Given the description of an element on the screen output the (x, y) to click on. 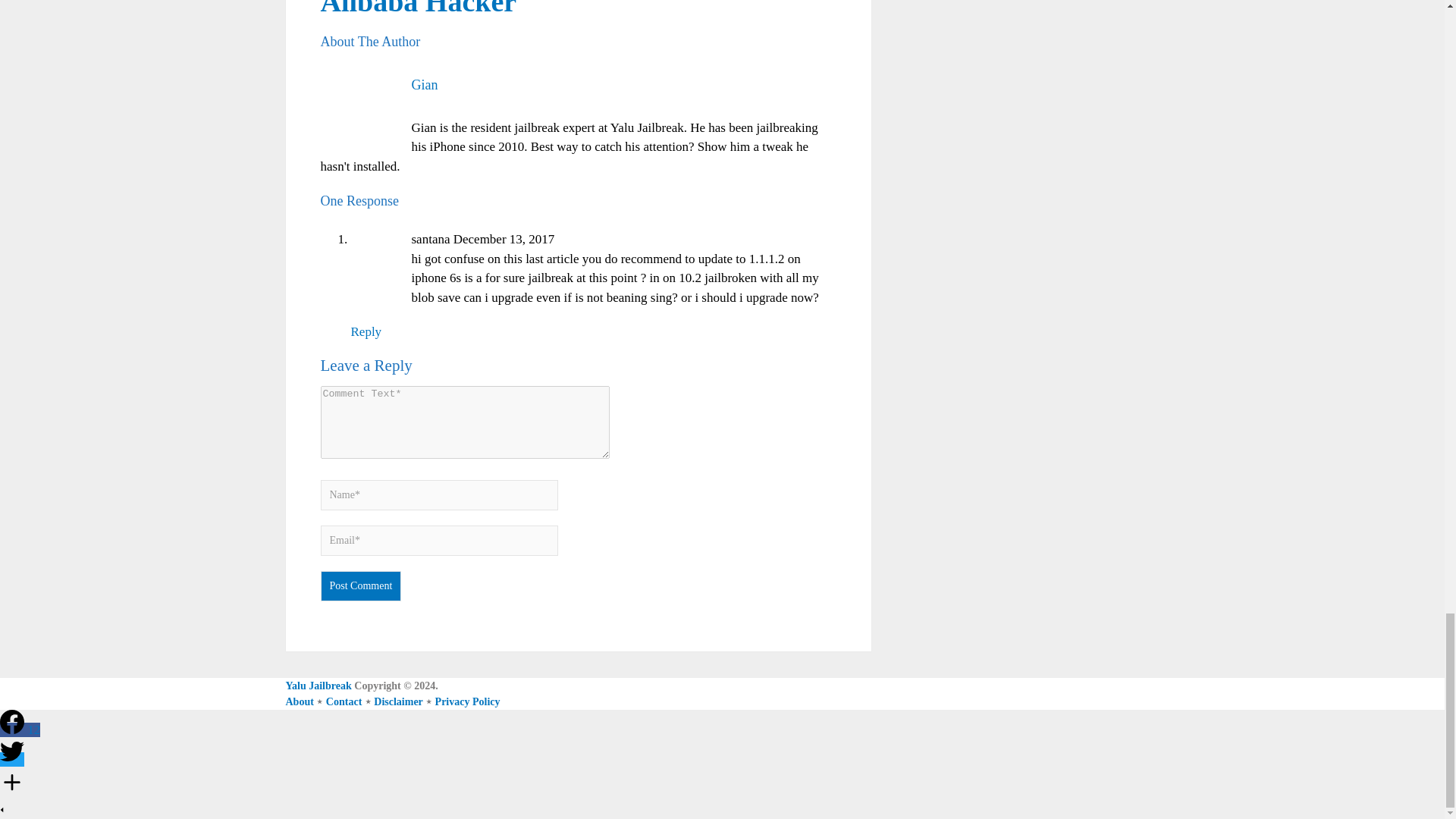
Gian (424, 84)
Post Comment (360, 585)
Post Comment (360, 585)
Reply (365, 331)
